Given the description of an element on the screen output the (x, y) to click on. 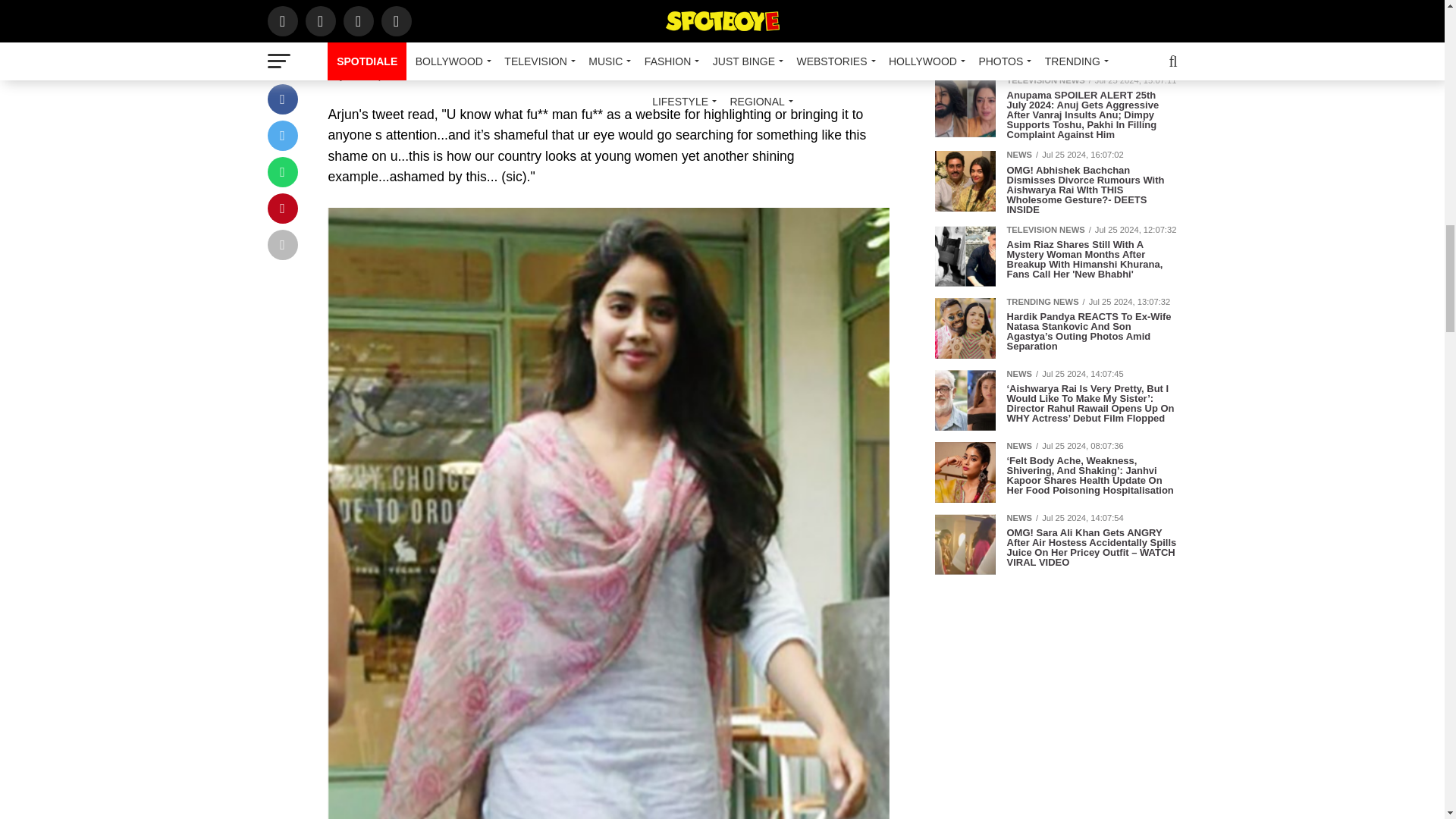
Arjun Kapoor Tweet (607, 28)
